Given the description of an element on the screen output the (x, y) to click on. 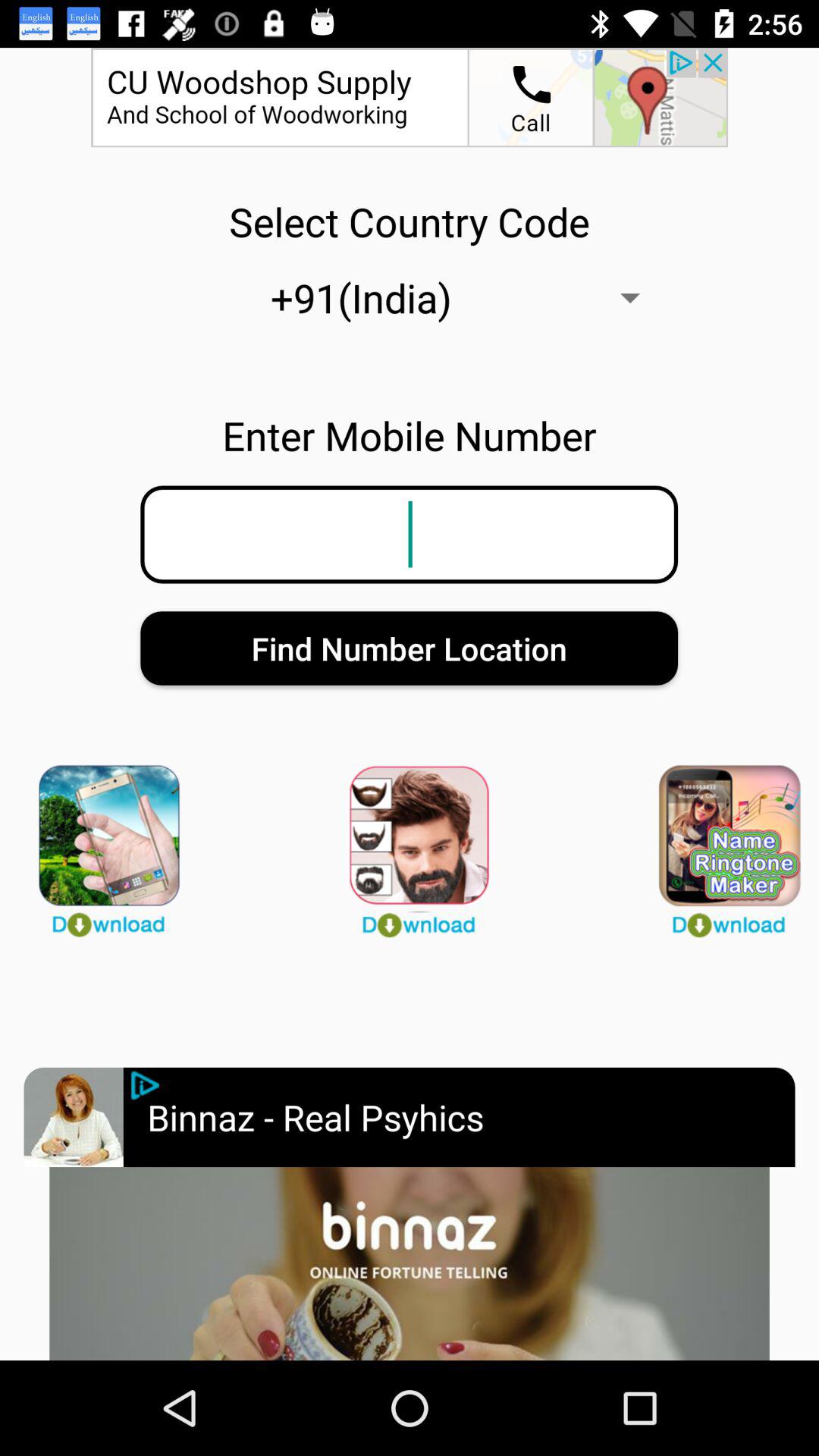
advertisement (409, 1263)
